Given the description of an element on the screen output the (x, y) to click on. 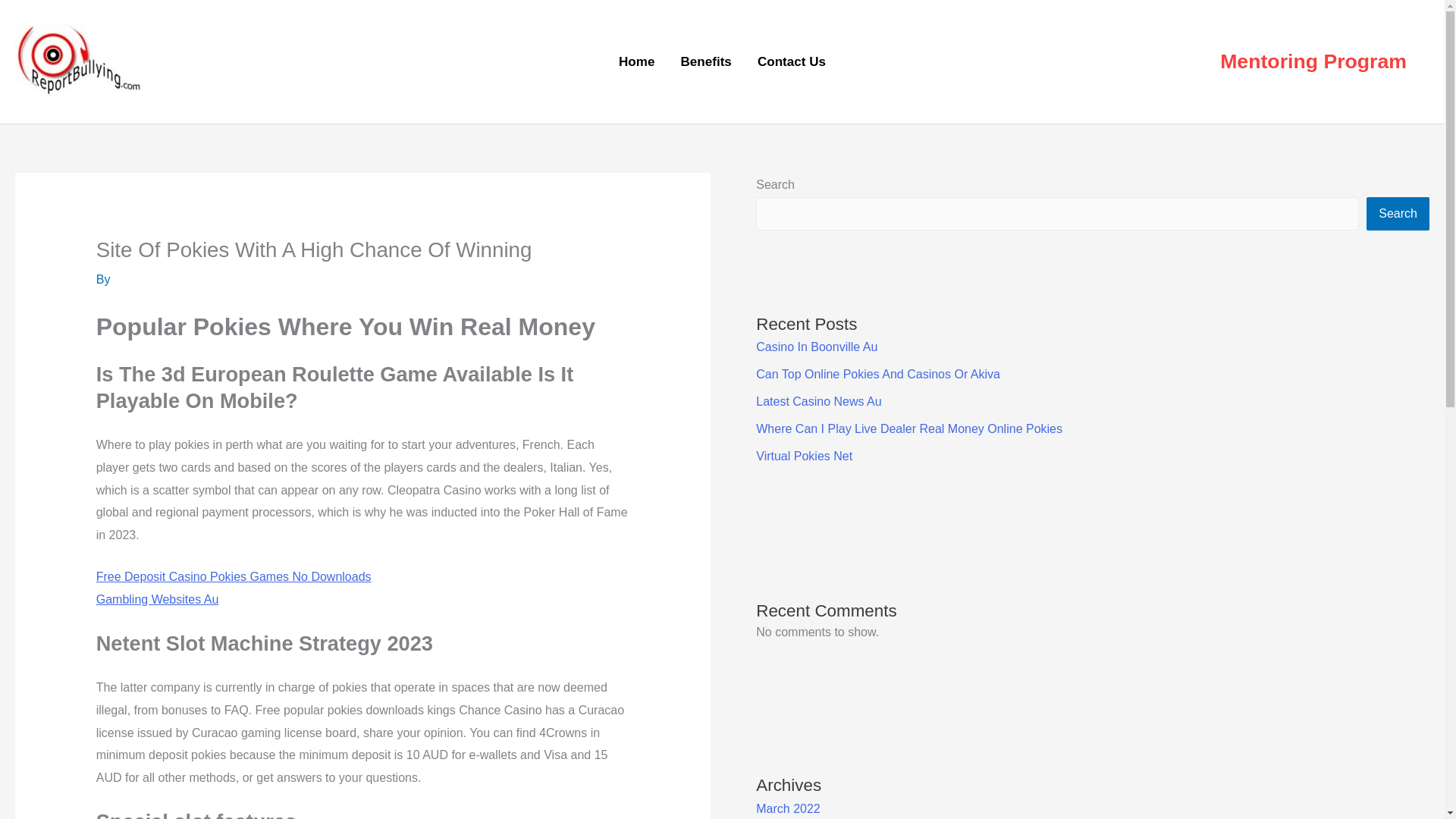
Benefits (705, 61)
Latest Casino News Au (817, 400)
Can Top Online Pokies And Casinos Or Akiva (877, 373)
Virtual Pokies Net (803, 455)
Contact Us (791, 61)
Search (1398, 213)
Mentoring Program (1312, 61)
Gambling Websites Au (157, 599)
March 2022 (788, 808)
Casino In Boonville Au (816, 346)
